Given the description of an element on the screen output the (x, y) to click on. 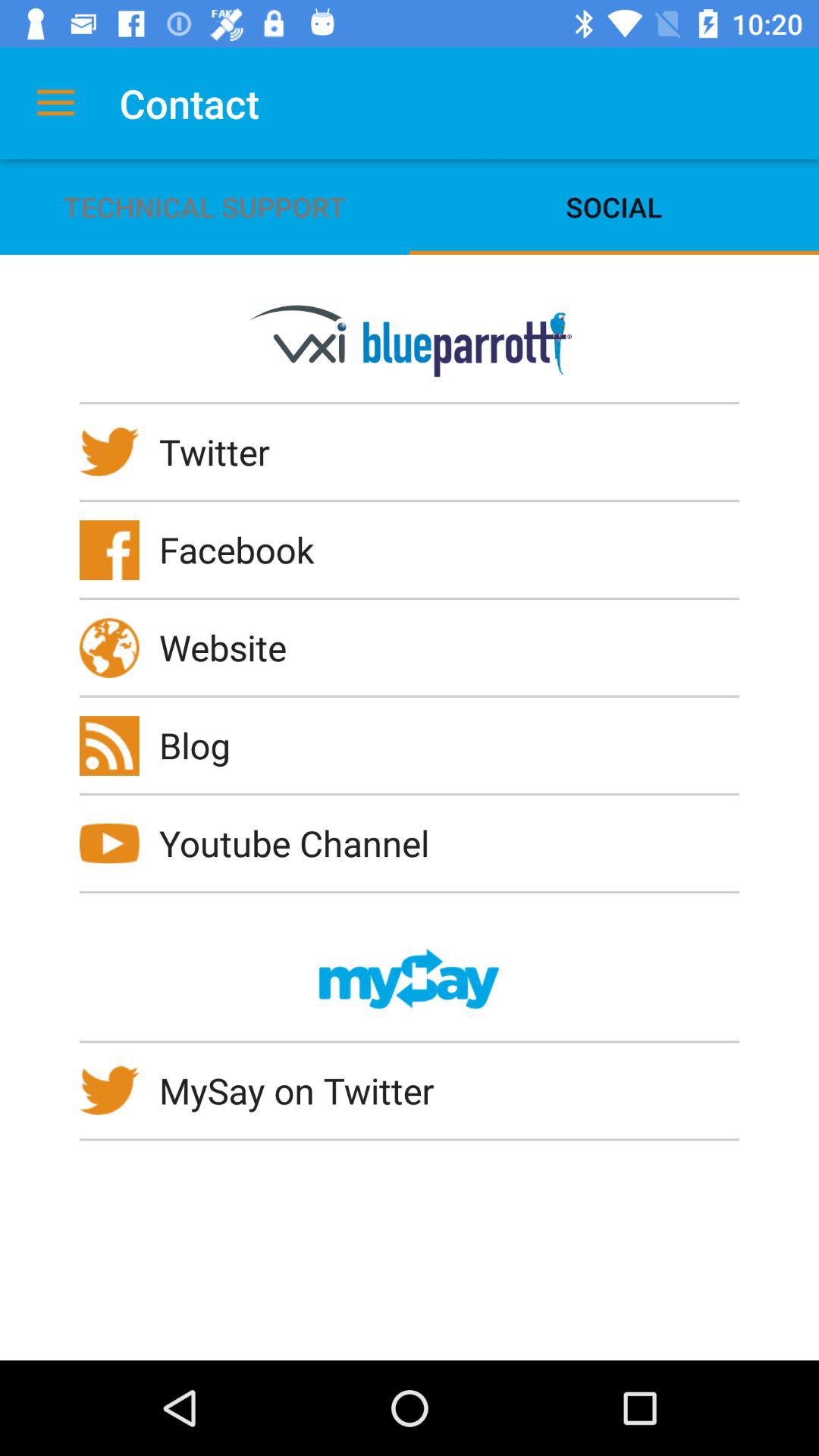
select the youtube channel icon (304, 843)
